Given the description of an element on the screen output the (x, y) to click on. 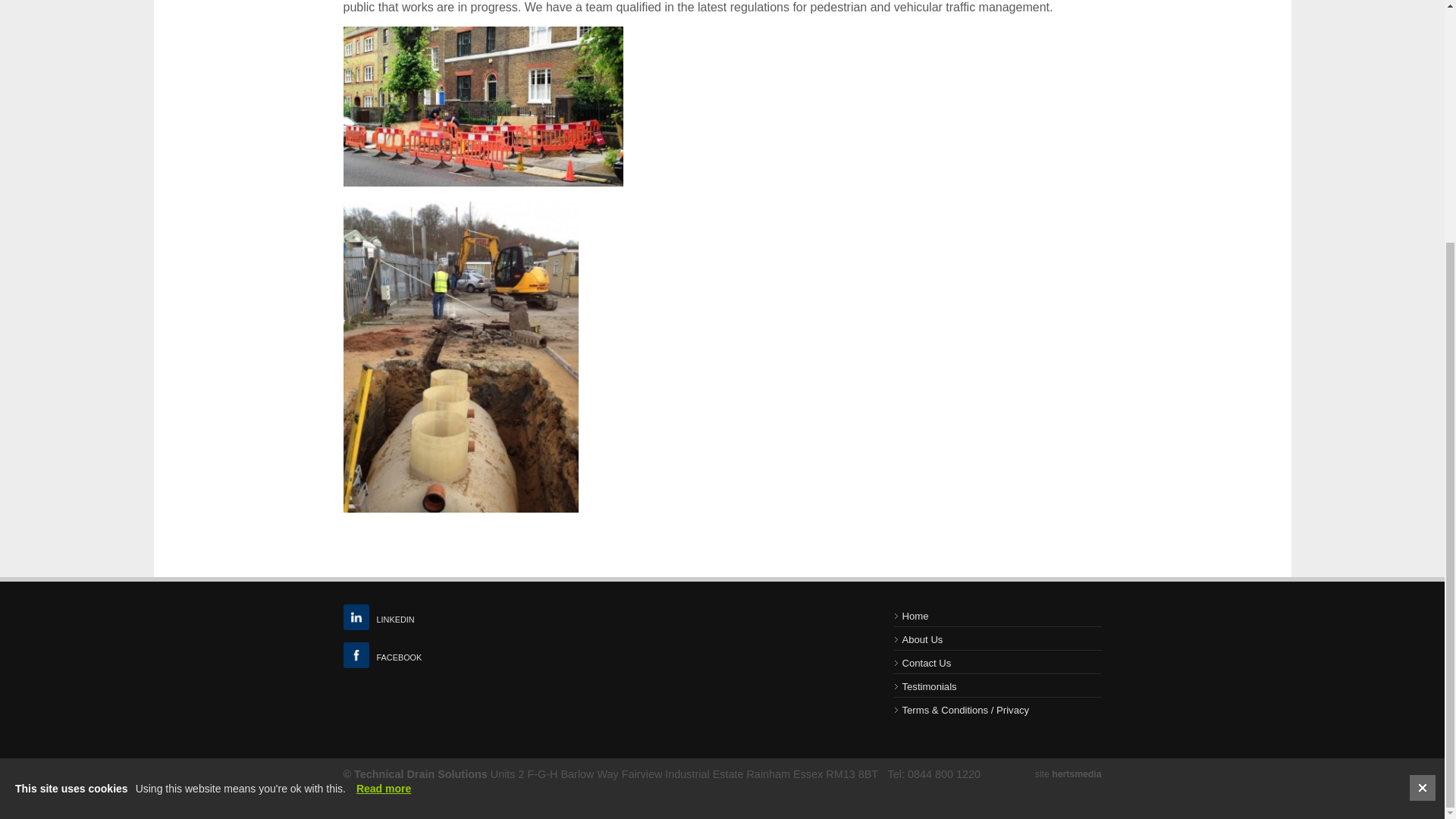
Testimonials (997, 686)
site hertsmedia (1068, 774)
Contact Us (997, 662)
Home (997, 616)
About Us (997, 639)
Street-dig  (482, 106)
